Given the description of an element on the screen output the (x, y) to click on. 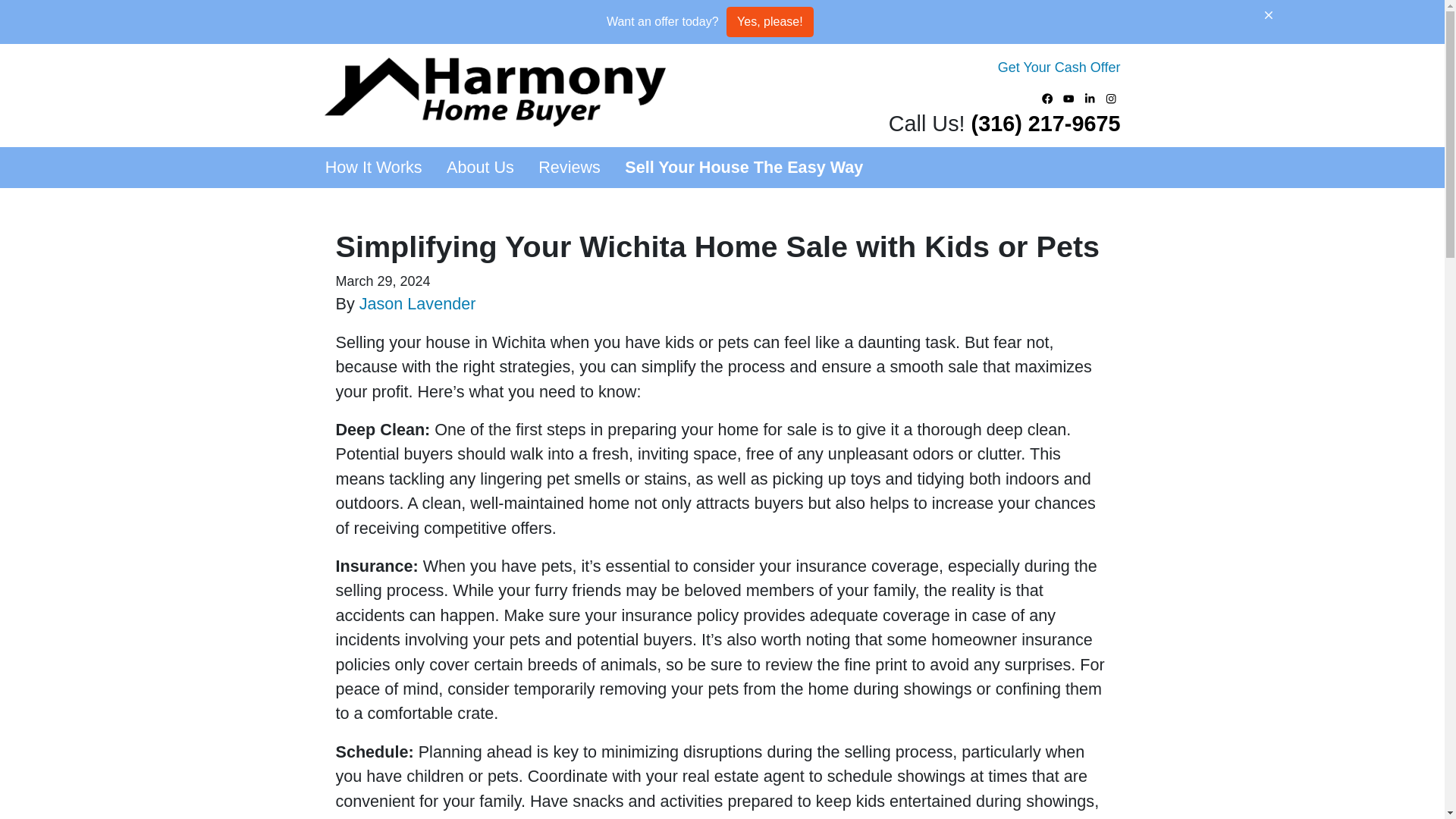
Reviews (568, 167)
YouTube (1068, 98)
How It Works (373, 167)
Get Your Cash Offer (1058, 66)
Reviews (568, 167)
Sell Your House The Easy Way (743, 167)
Sell Your House The Easy Way (743, 167)
Instagram (1111, 98)
Yes, please! (769, 21)
LinkedIn (1090, 98)
